Given the description of an element on the screen output the (x, y) to click on. 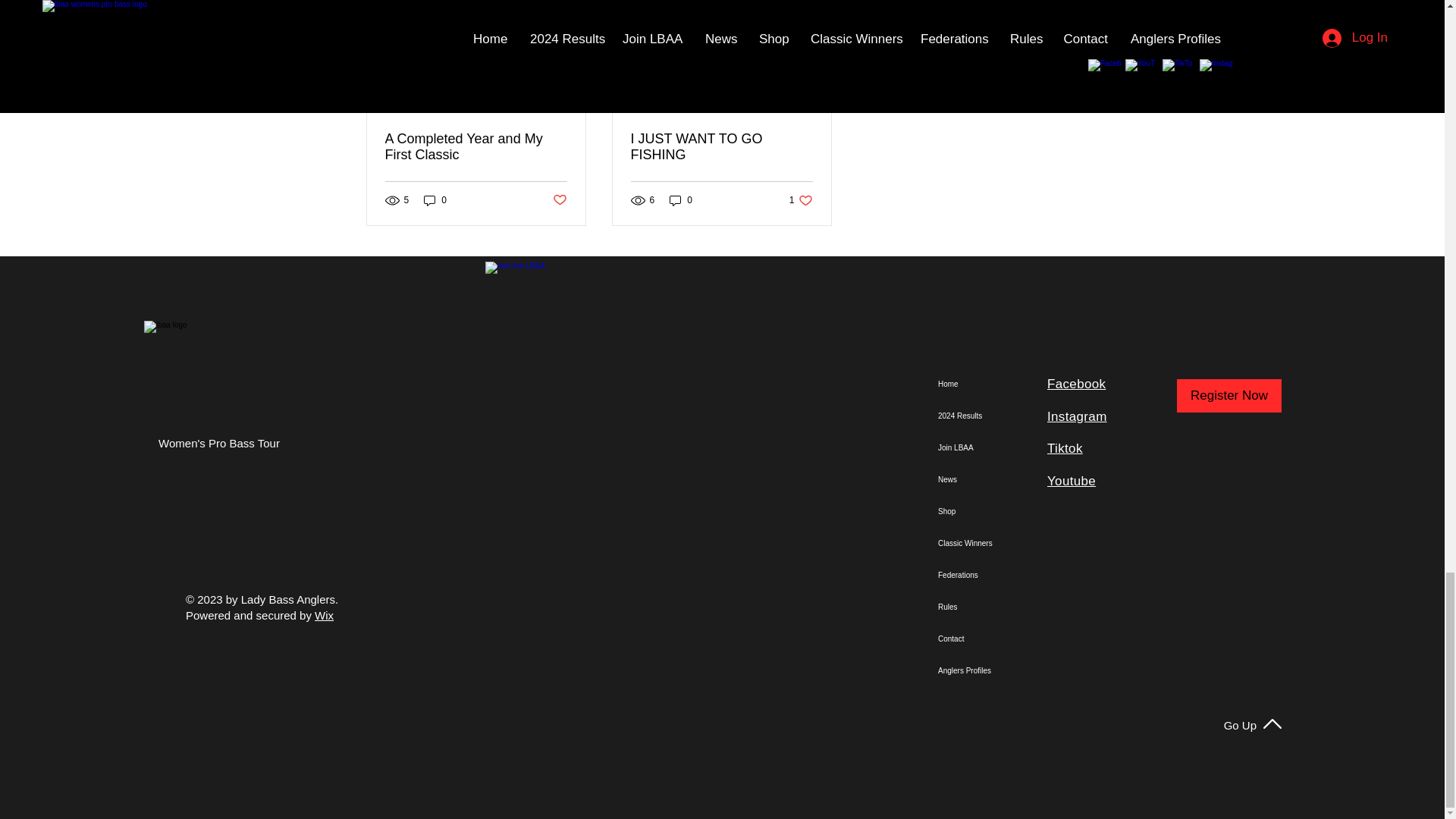
A Completed Year and My First Classic (476, 146)
I JUST WANT TO GO FISHING (721, 146)
0 (435, 200)
Post not marked as liked (800, 200)
0 (558, 200)
